Given the description of an element on the screen output the (x, y) to click on. 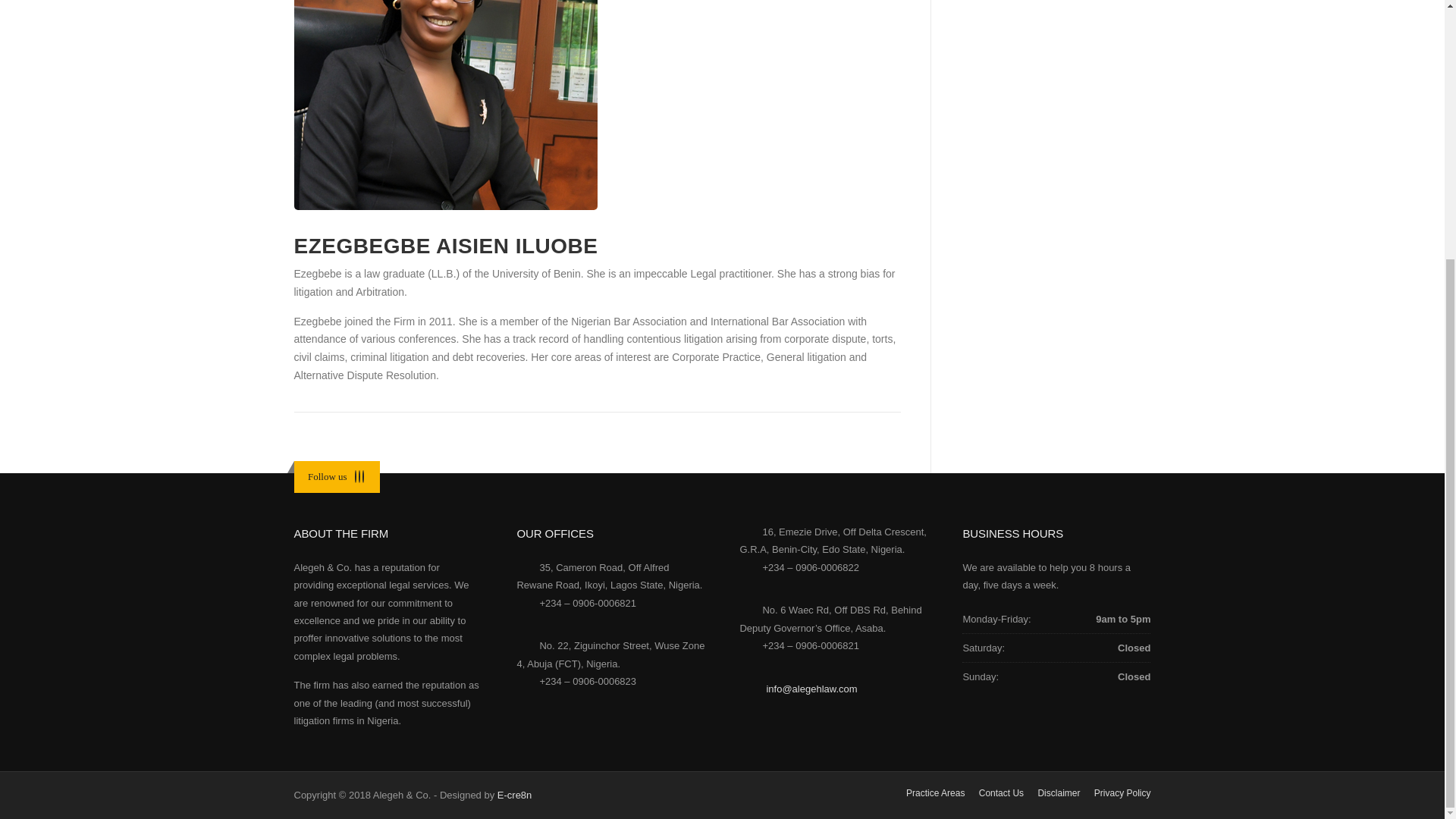
Contact Us (1000, 792)
EZEGBEGBE AISIEN ILUOBE (446, 245)
Practice Areas (934, 792)
Disclaimer (1058, 792)
Privacy Policy (1122, 792)
E-cre8n (514, 794)
